Given the description of an element on the screen output the (x, y) to click on. 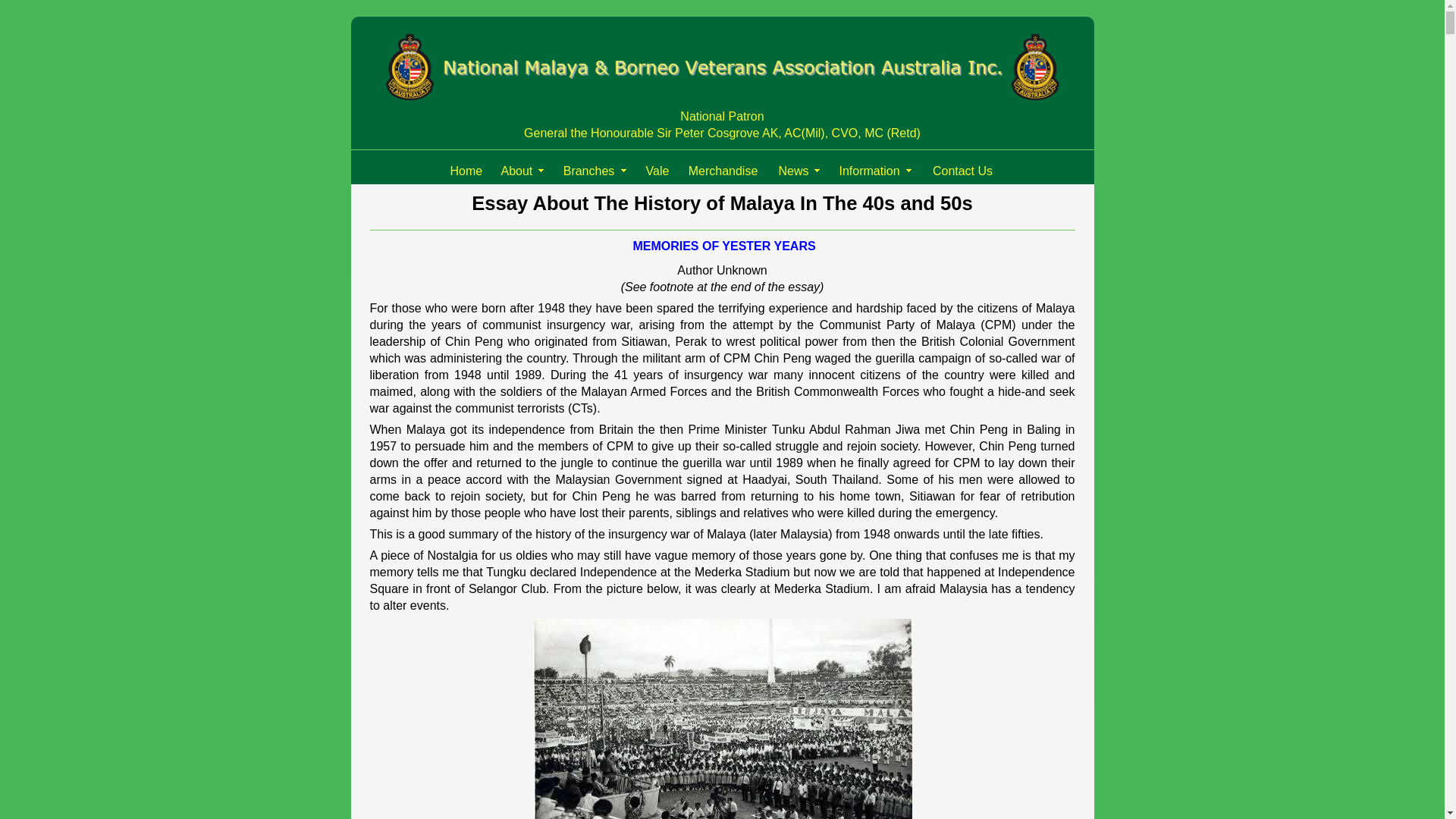
Contact Us Element type: text (962, 172)
News Element type: text (798, 172)
Merchandise Element type: text (722, 172)
Vale Element type: text (656, 172)
Branches Element type: text (594, 172)
Home Element type: text (464, 172)
Information Element type: text (875, 172)
About Element type: text (522, 172)
